Given the description of an element on the screen output the (x, y) to click on. 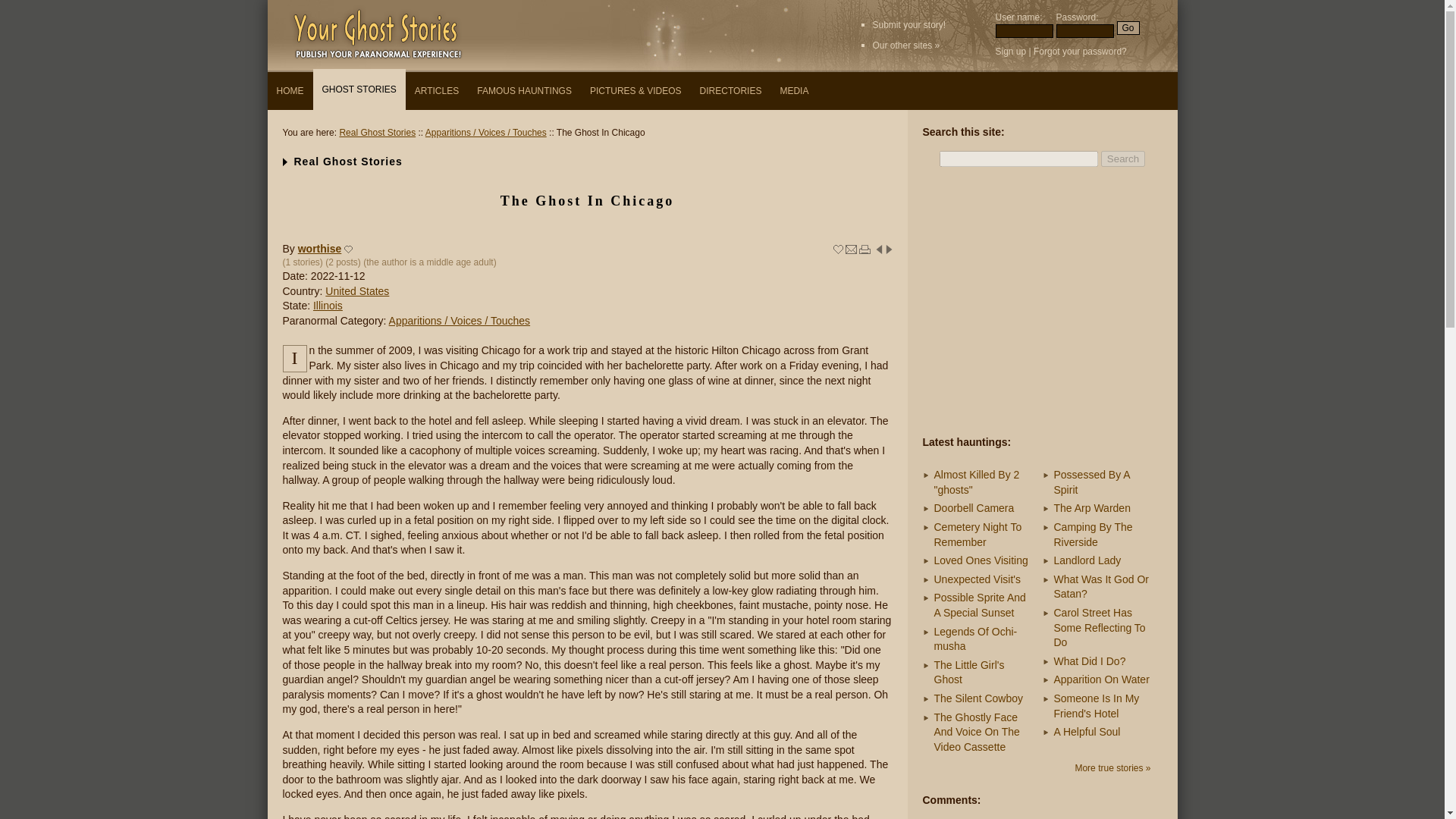
HOME (289, 90)
Search (1122, 158)
Forgot your password (1077, 50)
GHOST STORIES (358, 88)
Send this story to a friend (851, 248)
worthise (320, 248)
United States (356, 291)
Cemetery Night To Remember (978, 533)
Almost Killed By 2 "ghosts" (977, 482)
Add worthise to your favorite people (348, 248)
